Given the description of an element on the screen output the (x, y) to click on. 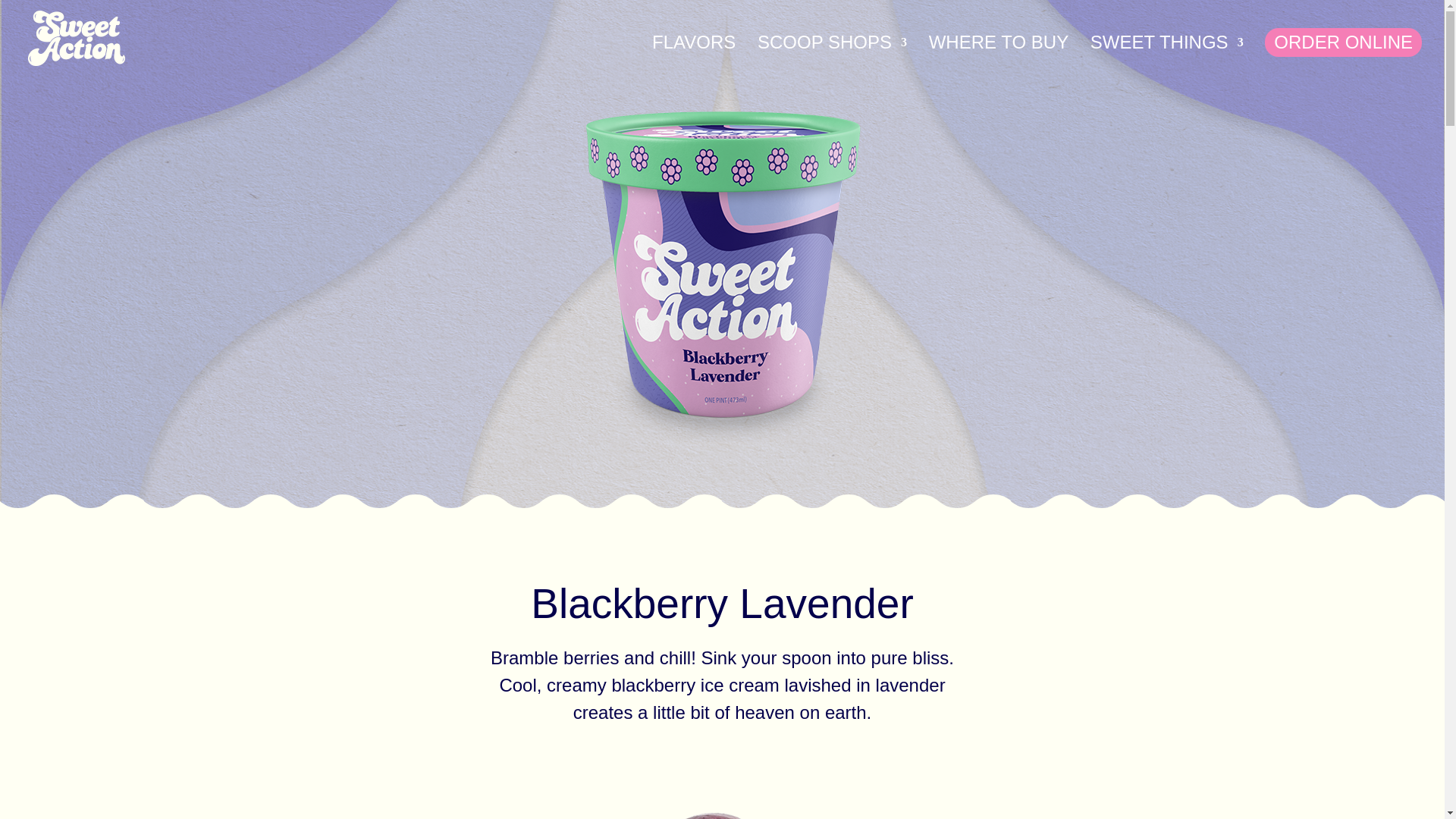
Scoop of Blackberry Lavender (721, 787)
FLAVORS (693, 56)
ORDER ONLINE (1343, 41)
WHERE TO BUY (998, 56)
SCOOP SHOPS (832, 56)
SWEET THINGS (1166, 56)
